Given the description of an element on the screen output the (x, y) to click on. 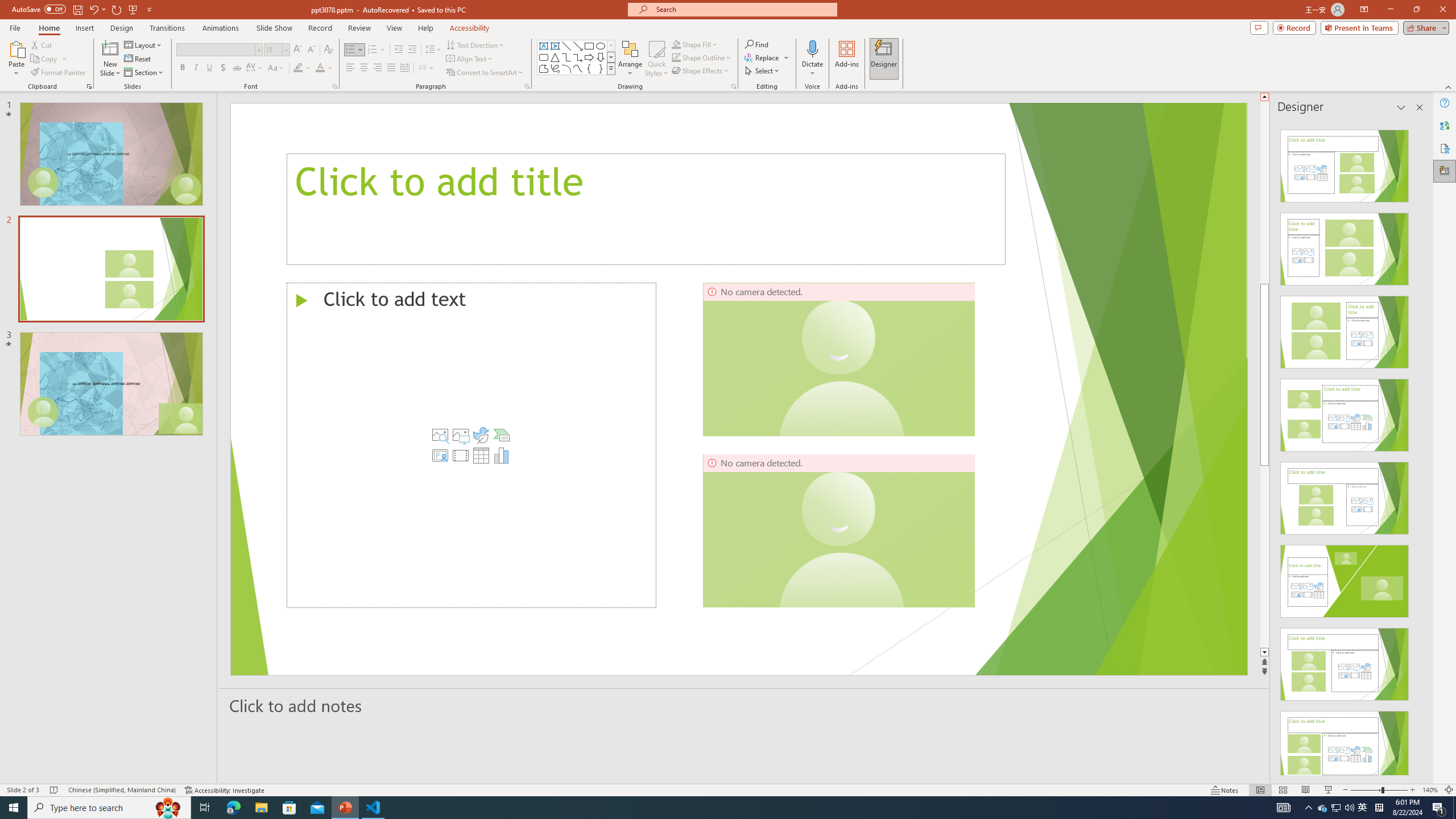
Strikethrough (237, 67)
Align Right (377, 67)
Insert Video (460, 455)
Class: NetUIScrollBar (1418, 447)
Find... (756, 44)
